Given the description of an element on the screen output the (x, y) to click on. 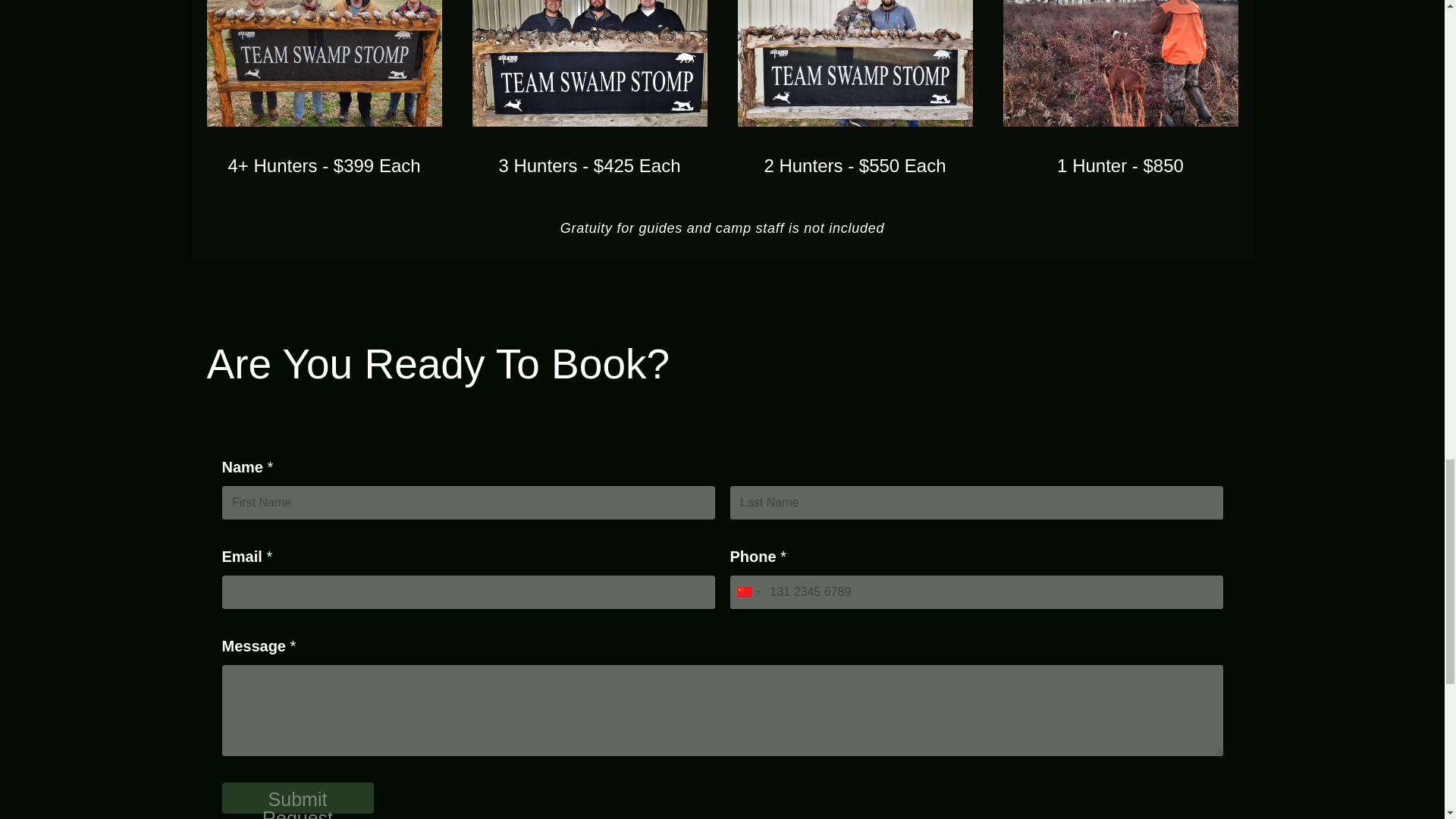
Largegroupquailhunt (323, 63)
3quailhunters (588, 63)
Singlequailhunterinwoodswithdog (1120, 63)
2quailhunters (854, 63)
